Given the description of an element on the screen output the (x, y) to click on. 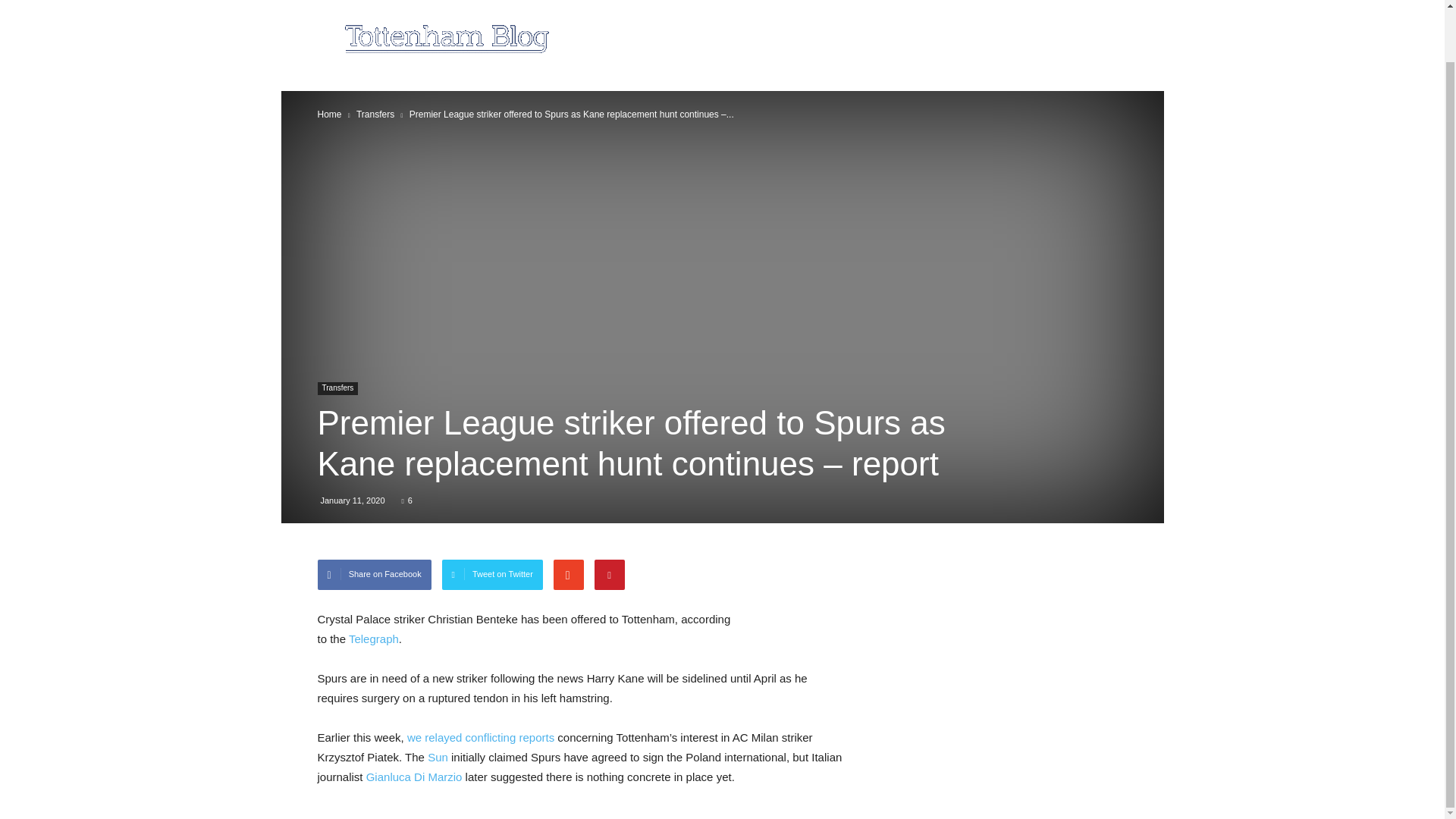
Tweet on Twitter (492, 574)
View all posts in Transfers (375, 113)
Transfers (375, 113)
Share on Facebook (373, 574)
Transfers (337, 388)
6 (406, 500)
Home (328, 113)
